Given the description of an element on the screen output the (x, y) to click on. 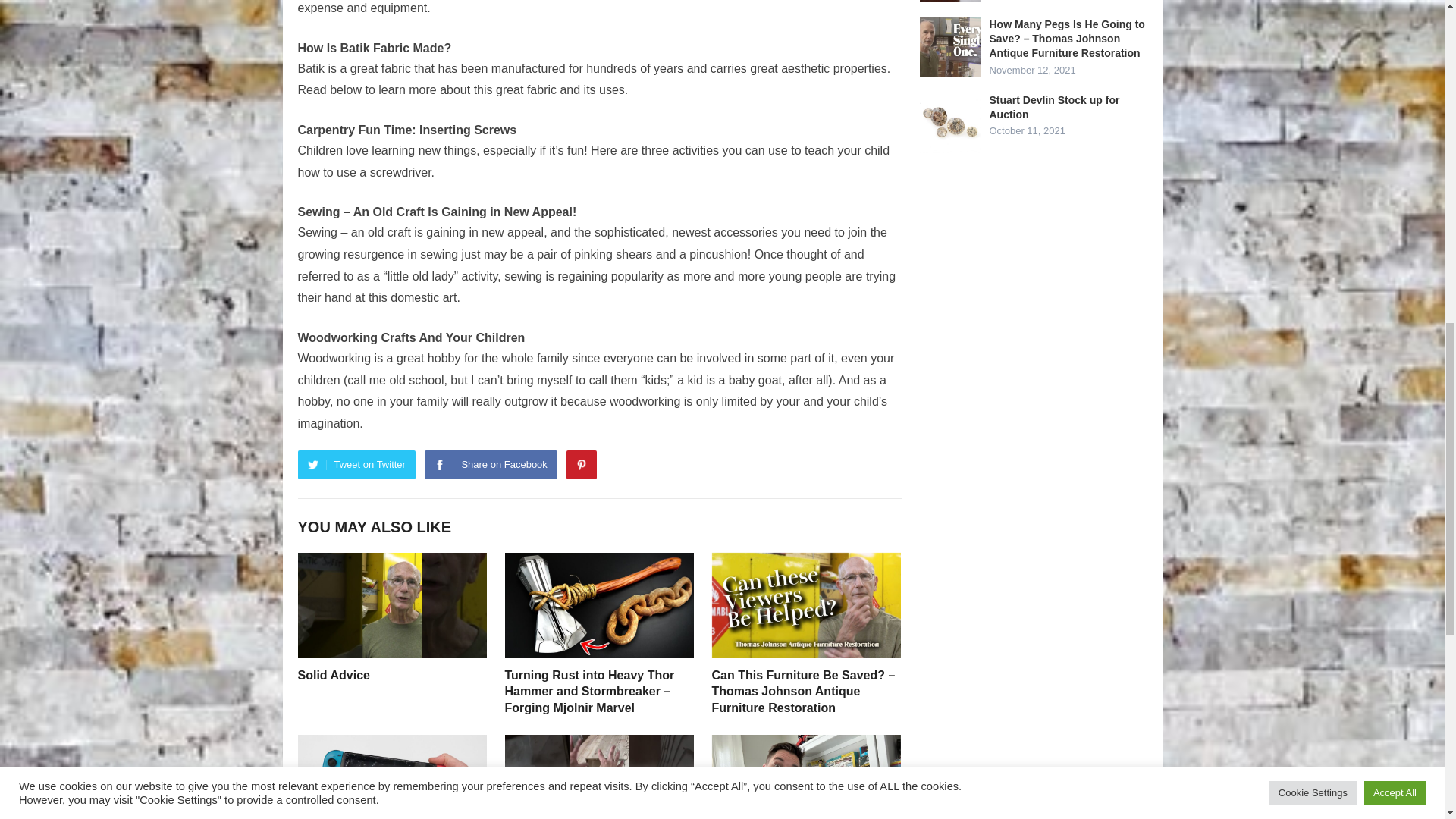
Tweet on Twitter (355, 464)
Share on Facebook (490, 464)
Pinterest (581, 464)
Solid Advice 2 (391, 605)
Solid Advice (333, 675)
